Given the description of an element on the screen output the (x, y) to click on. 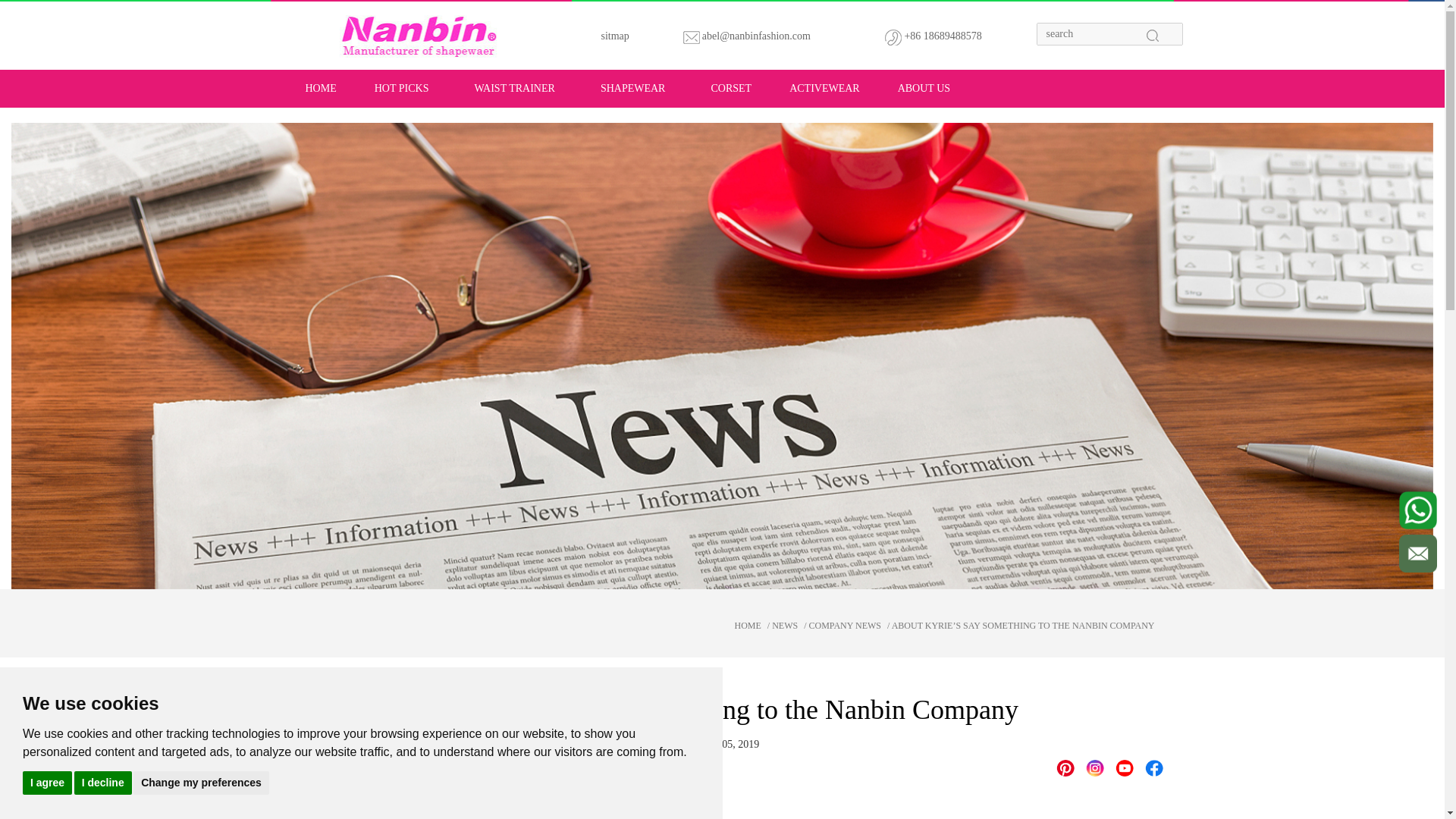
COMPANY NEWS (844, 624)
HOT PICKS (401, 88)
More (1094, 767)
ACTIVEWEAR (824, 88)
SHAPEWEAR (633, 88)
More (1123, 767)
More (1064, 767)
WAIST TRAINER (513, 88)
HOME (733, 624)
More (1153, 767)
ABOUT US (923, 88)
sitmap (613, 41)
NEWS (784, 624)
Cookies (32, 759)
I agree (47, 781)
